Given the description of an element on the screen output the (x, y) to click on. 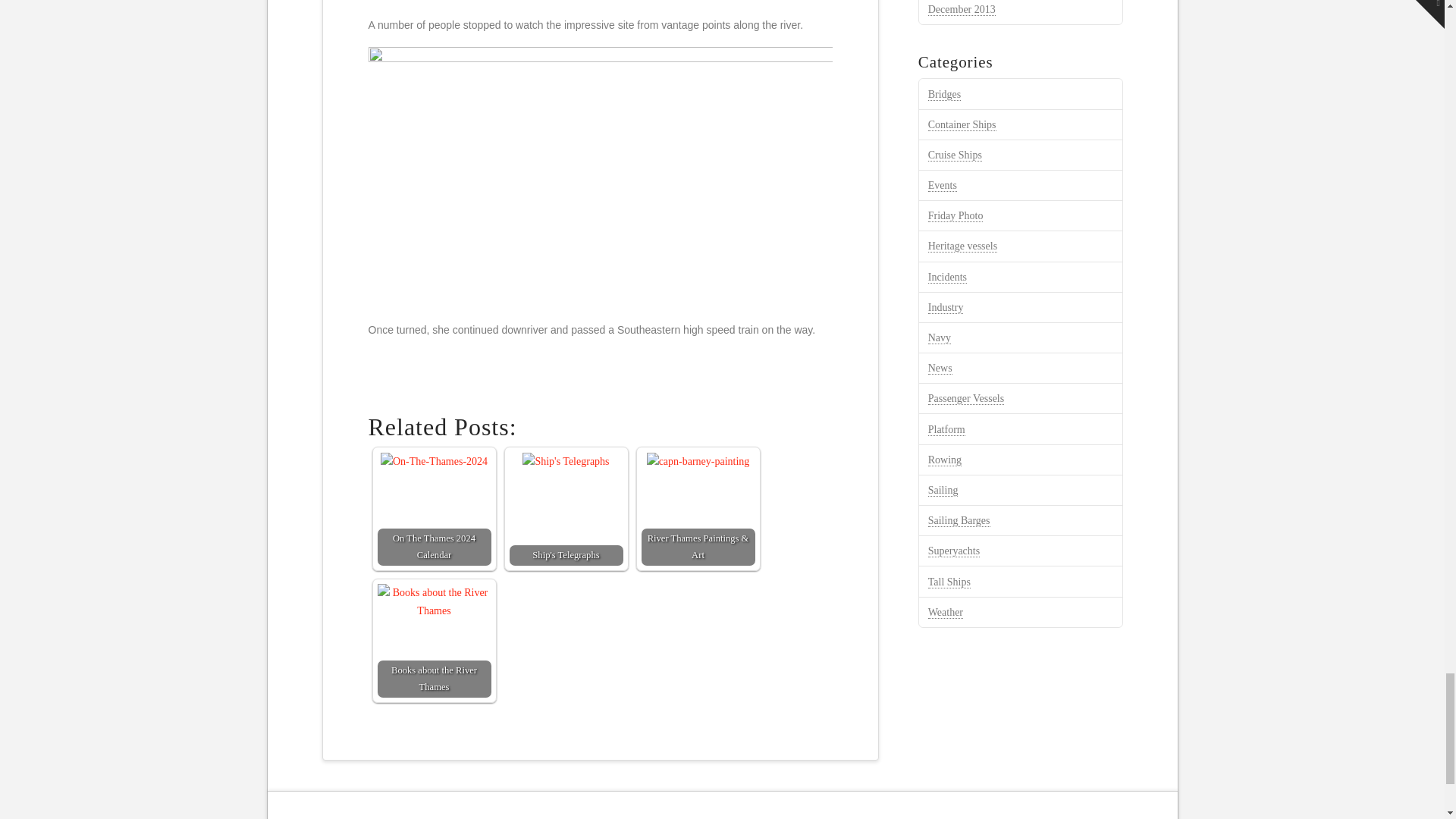
On The Thames 2024 Calendar (434, 508)
Books about the River Thames (434, 640)
Ship's Telegraphs (566, 508)
Ship's Telegraphs (565, 461)
Books about the River Thames (434, 601)
On The Thames 2024 Calendar (433, 461)
